Given the description of an element on the screen output the (x, y) to click on. 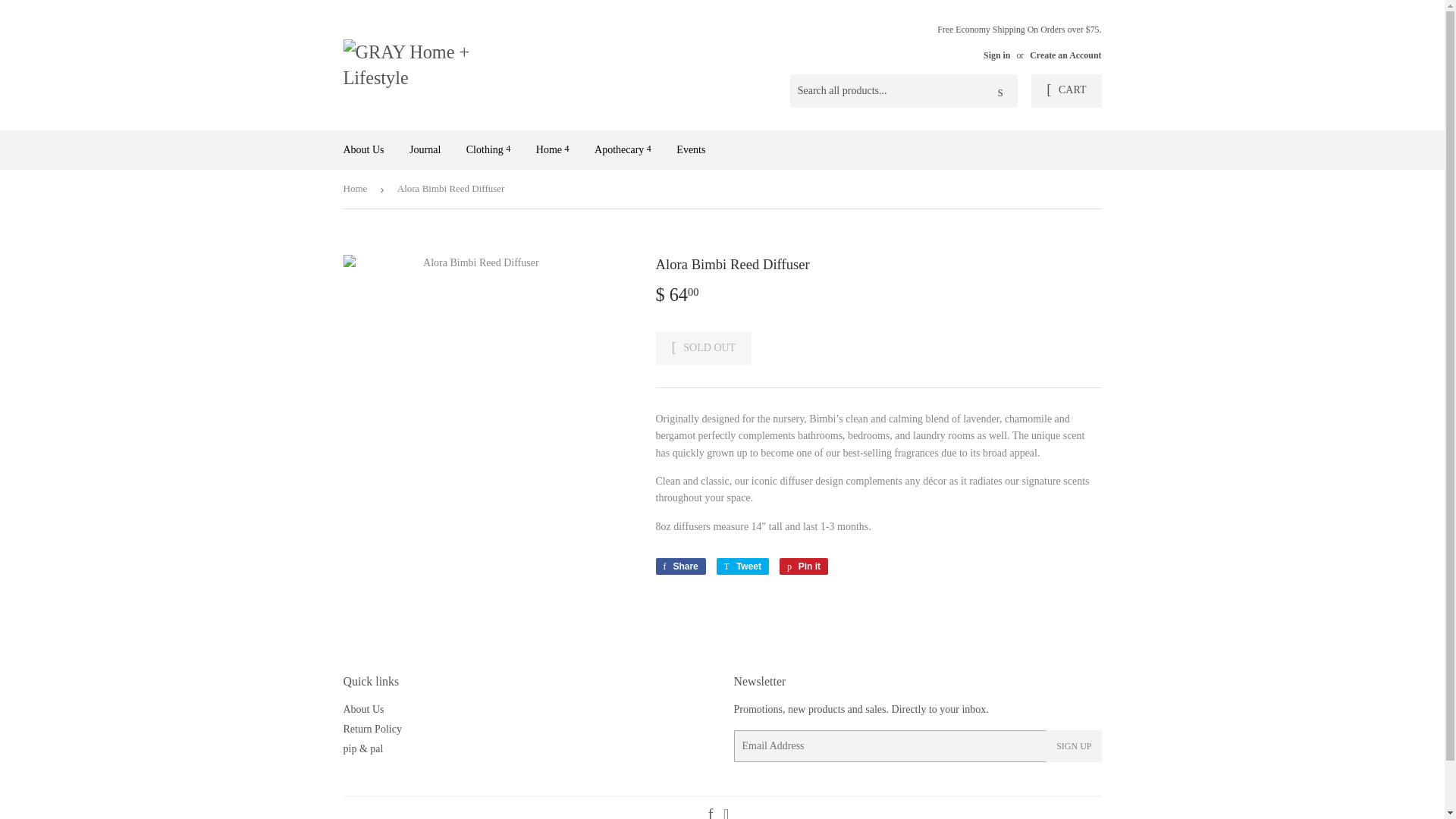
Share on Facebook (679, 565)
Search (1000, 91)
Pin on Pinterest (803, 565)
Tweet on Twitter (742, 565)
Create an Account (1064, 54)
CART (1065, 90)
Sign in (997, 54)
